Given the description of an element on the screen output the (x, y) to click on. 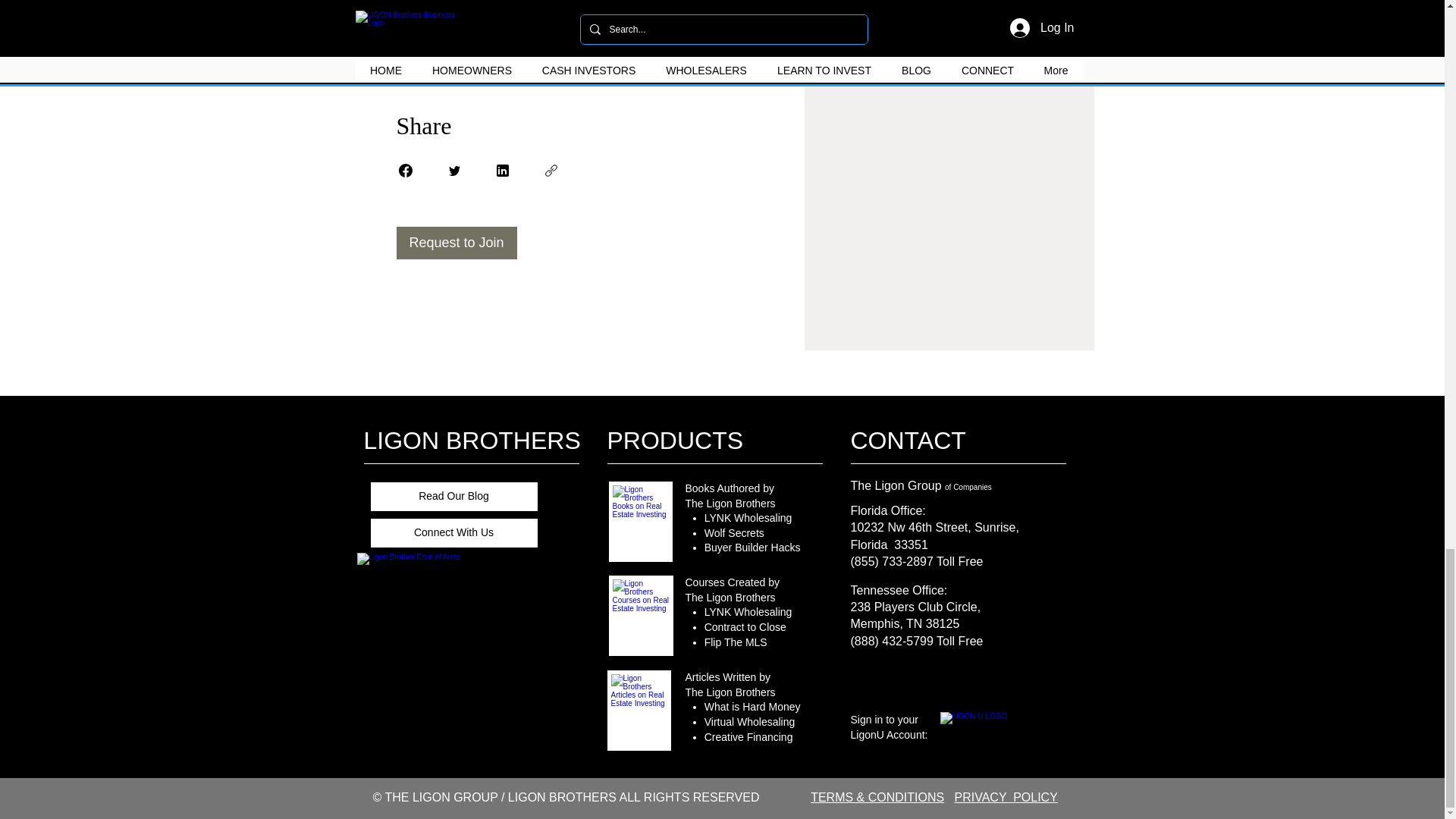
Read Our Blog (453, 496)
LigonU Log-In (994, 726)
Creative Financing (748, 736)
Request to Join (456, 242)
LYNK Wholesaling (748, 517)
Virtual Wholesaling (749, 721)
Connect With Us (453, 532)
Ligon Crest (452, 653)
of Companies (967, 487)
Wolf Secrets (734, 532)
LYNK Wholesaling (748, 612)
The Ligon Group (897, 485)
Flip The MLS (735, 642)
Buyer Builder Hacks (752, 547)
